Given the description of an element on the screen output the (x, y) to click on. 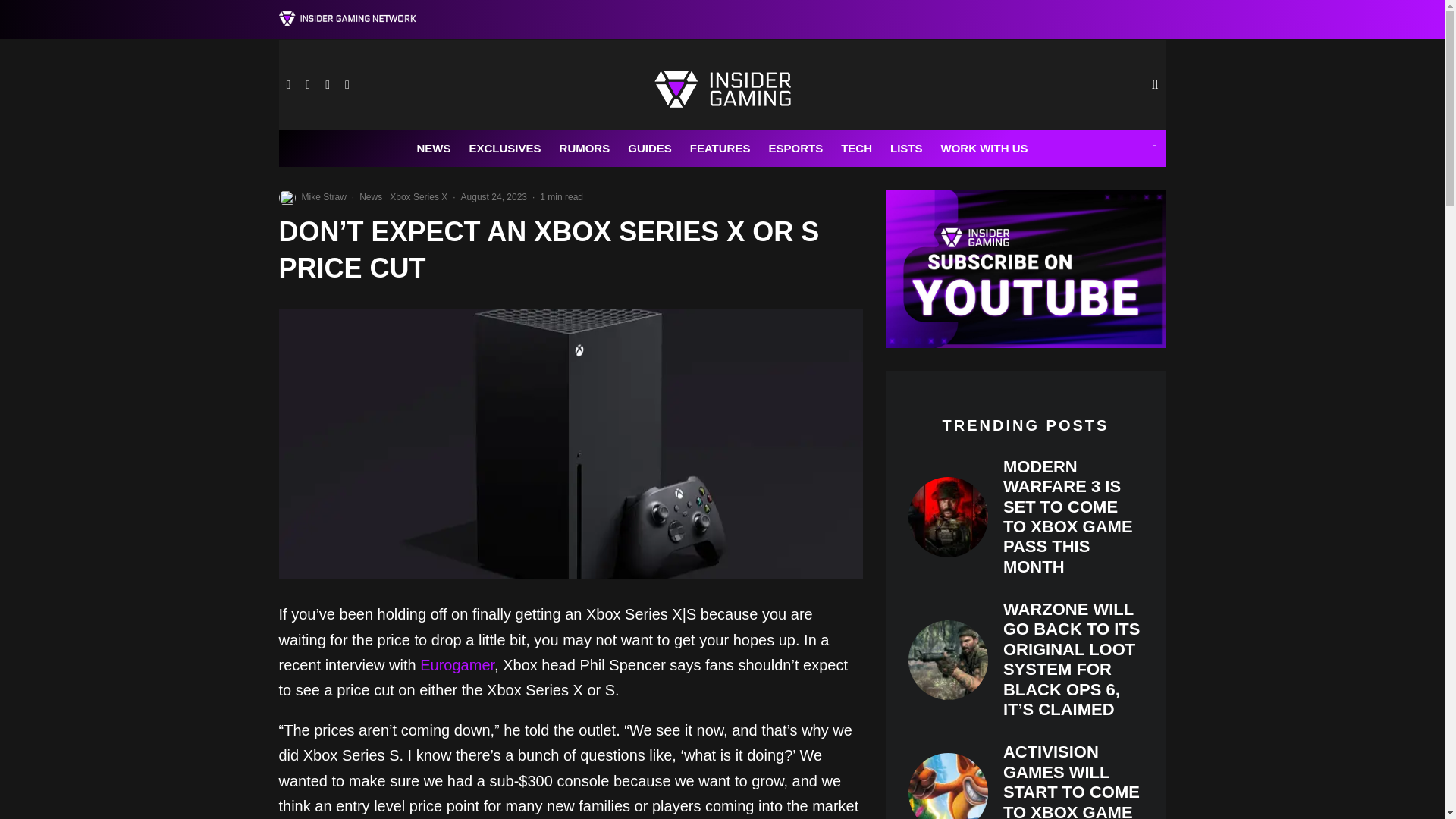
EXCLUSIVES (505, 148)
NEWS (433, 148)
RUMORS (585, 148)
